Given the description of an element on the screen output the (x, y) to click on. 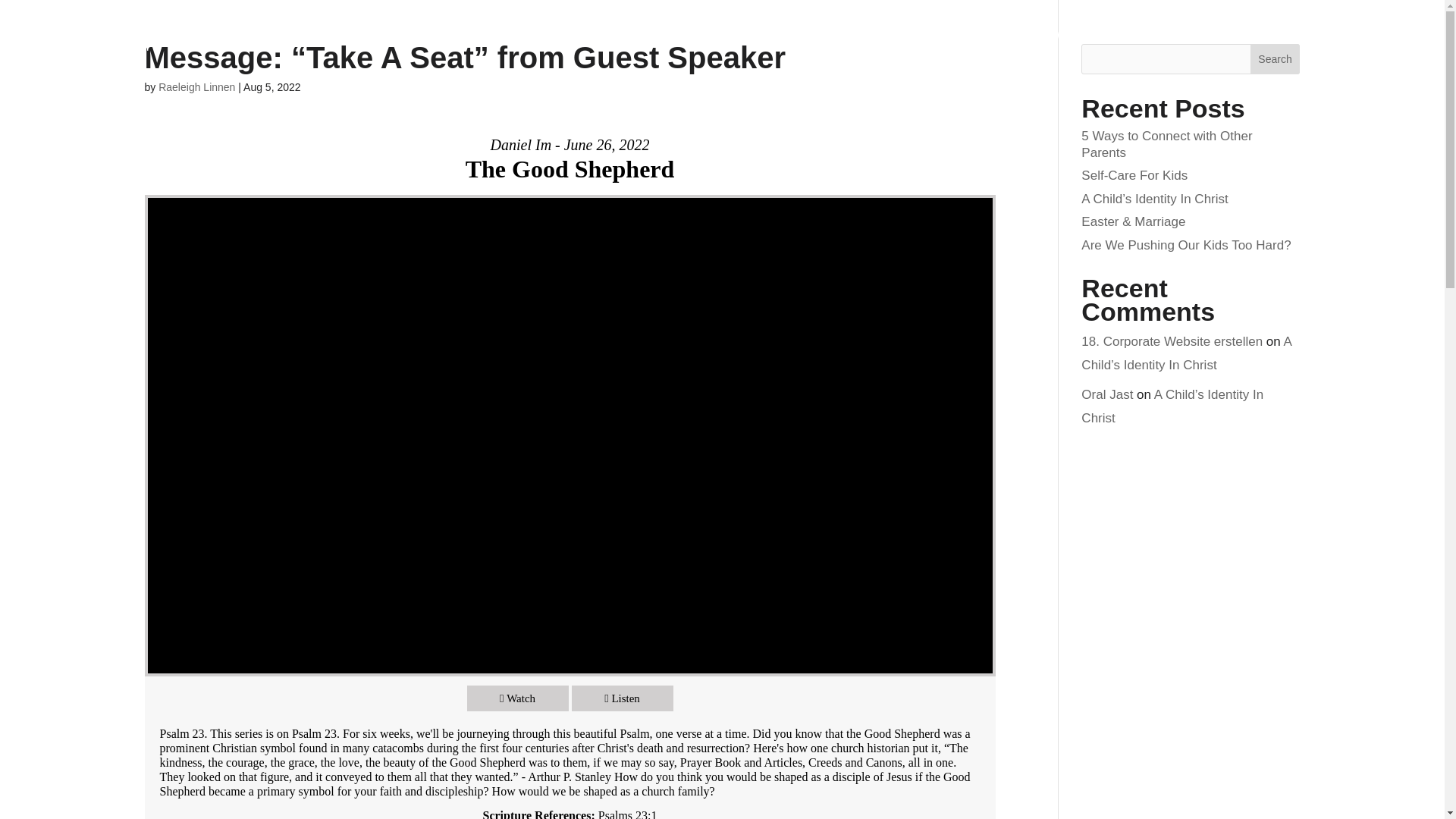
Upcoming (1117, 35)
Psalms 23:1 (628, 814)
Raeleigh Linnen (196, 87)
Listen (622, 698)
Beulah-Logo-Secondary-White (198, 33)
5 Ways to Connect with Other Parents (1166, 143)
Watch (518, 698)
Search (1275, 59)
Locations (962, 35)
Posts by Raeleigh Linnen (196, 87)
